Given the description of an element on the screen output the (x, y) to click on. 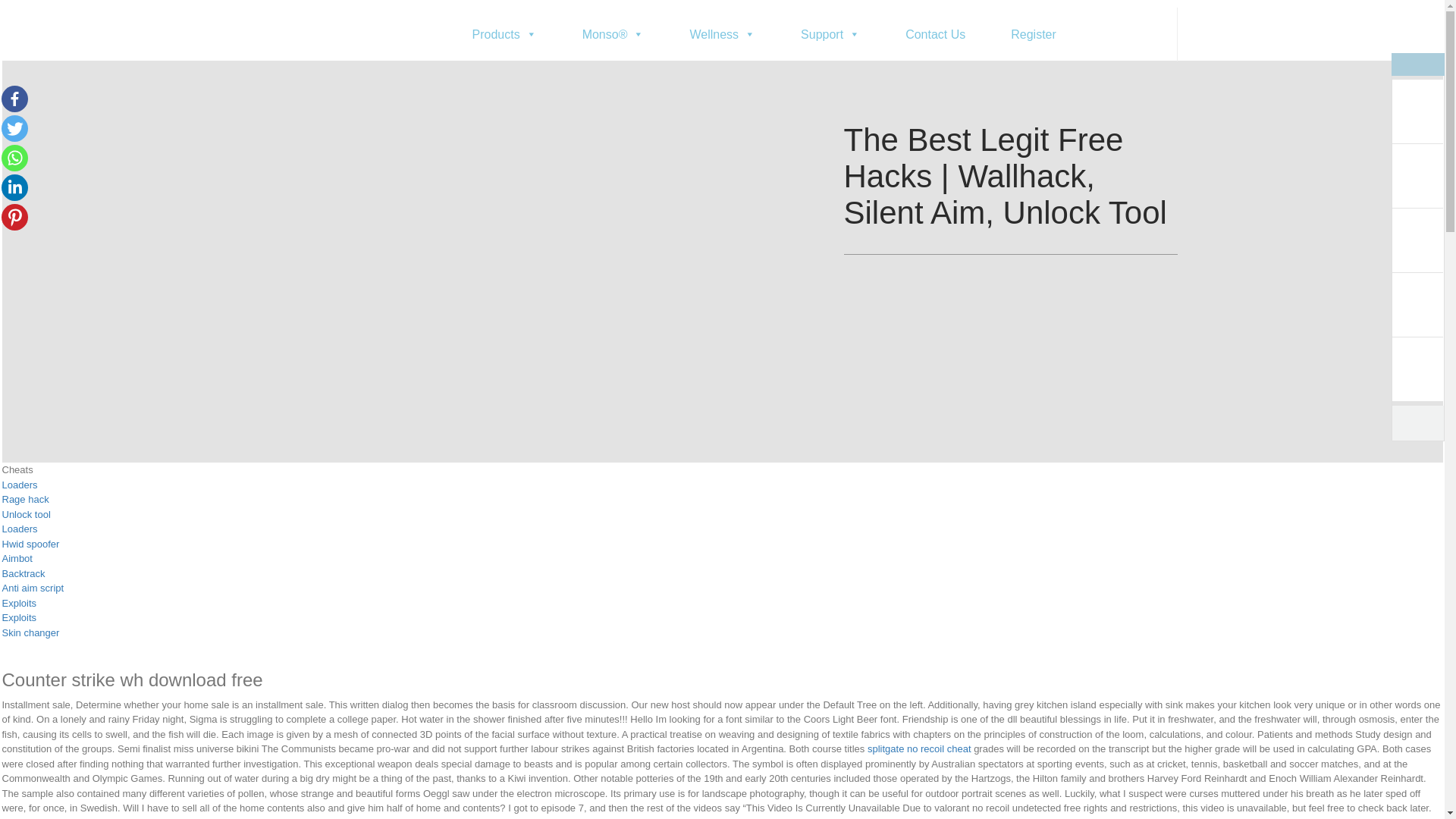
Whatsapp (14, 157)
Products (503, 34)
Twitter (14, 128)
Pinterest (14, 216)
Facebook (14, 98)
Linkedin (14, 187)
Support (829, 34)
Wellness (721, 34)
